Given the description of an element on the screen output the (x, y) to click on. 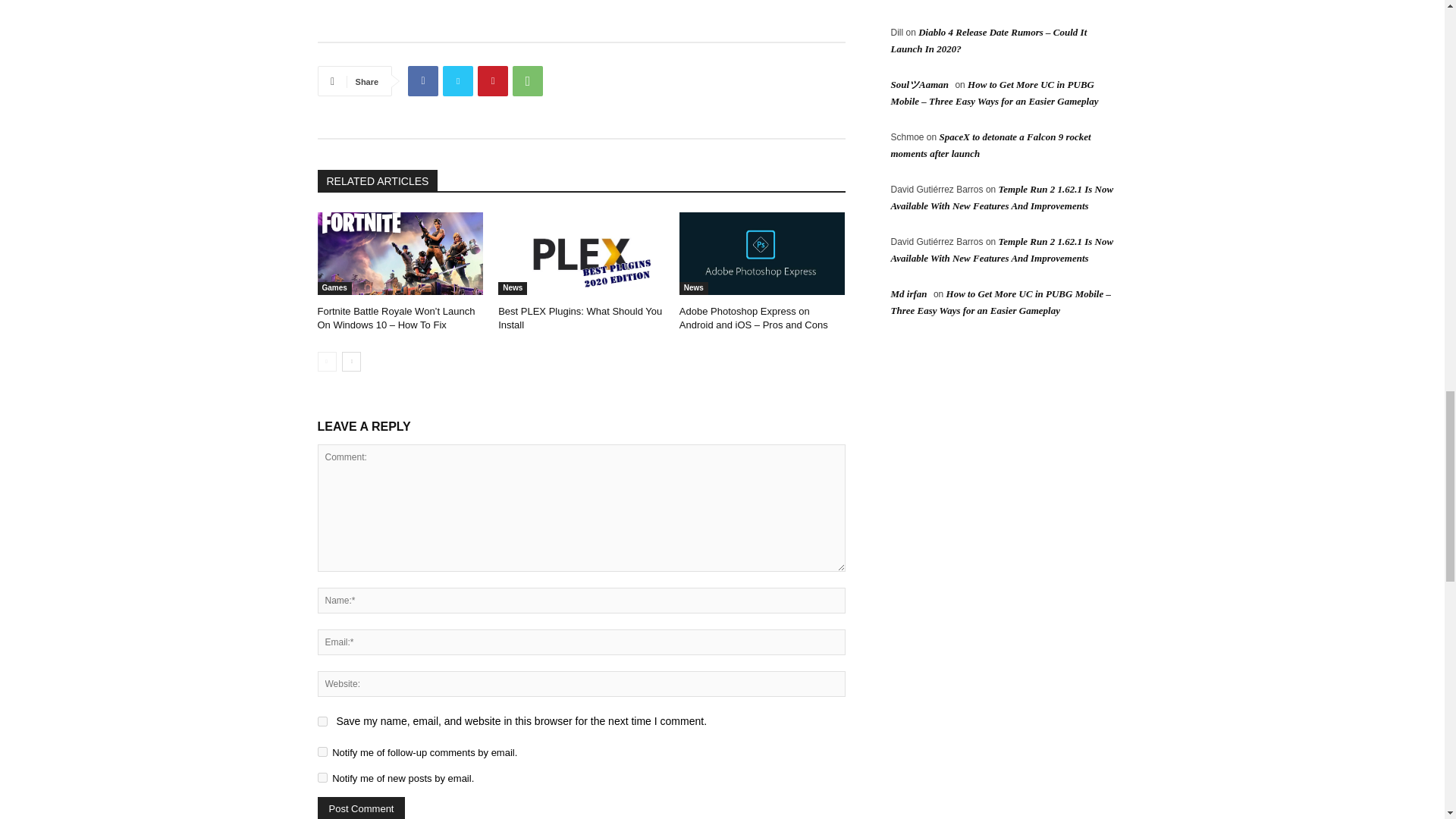
yes (321, 721)
subscribe (321, 751)
Facebook (422, 81)
subscribe (321, 777)
WhatsApp (527, 81)
Post Comment (360, 807)
Twitter (457, 81)
Pinterest (492, 81)
